Given the description of an element on the screen output the (x, y) to click on. 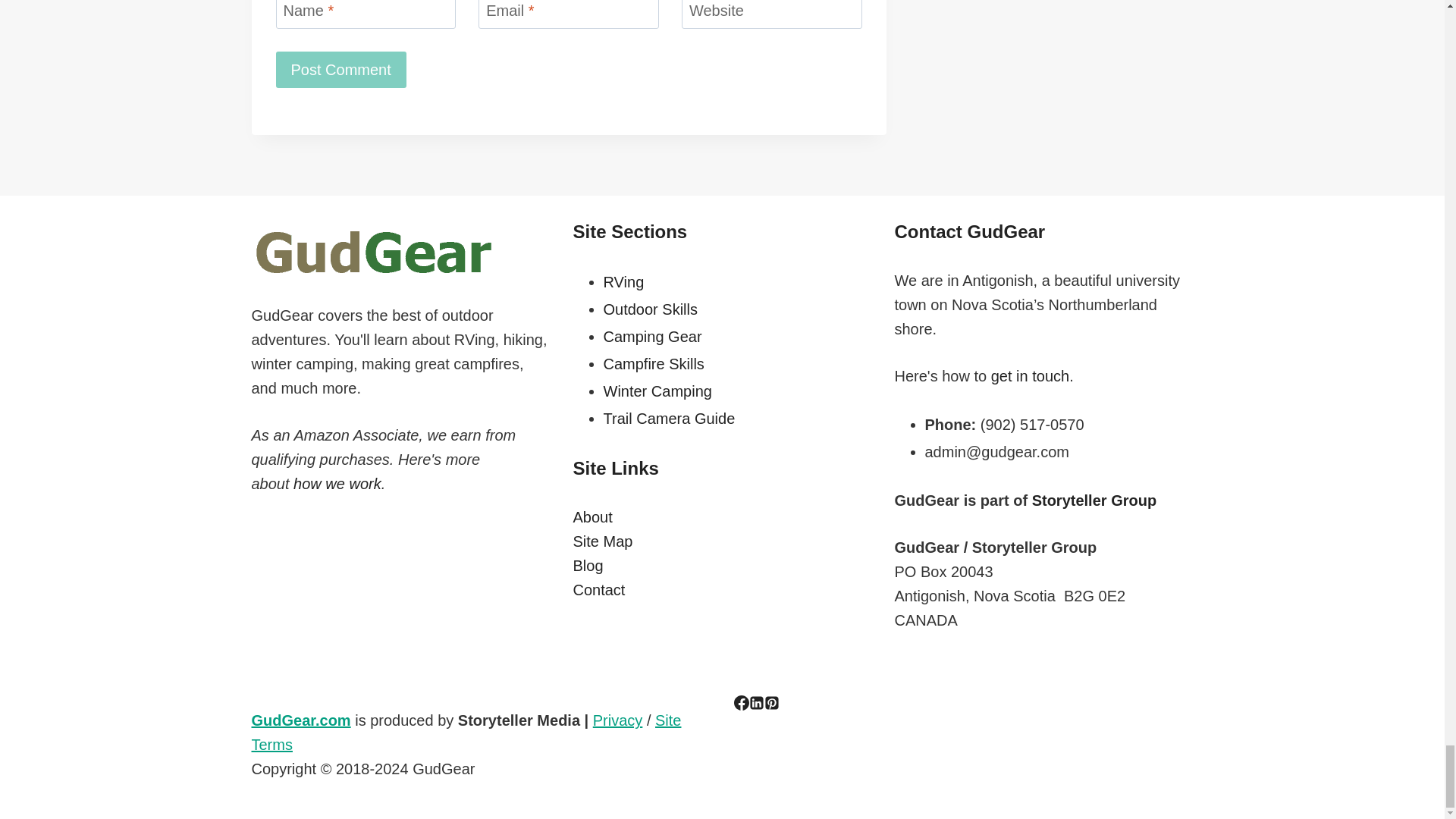
Post Comment (341, 69)
